Given the description of an element on the screen output the (x, y) to click on. 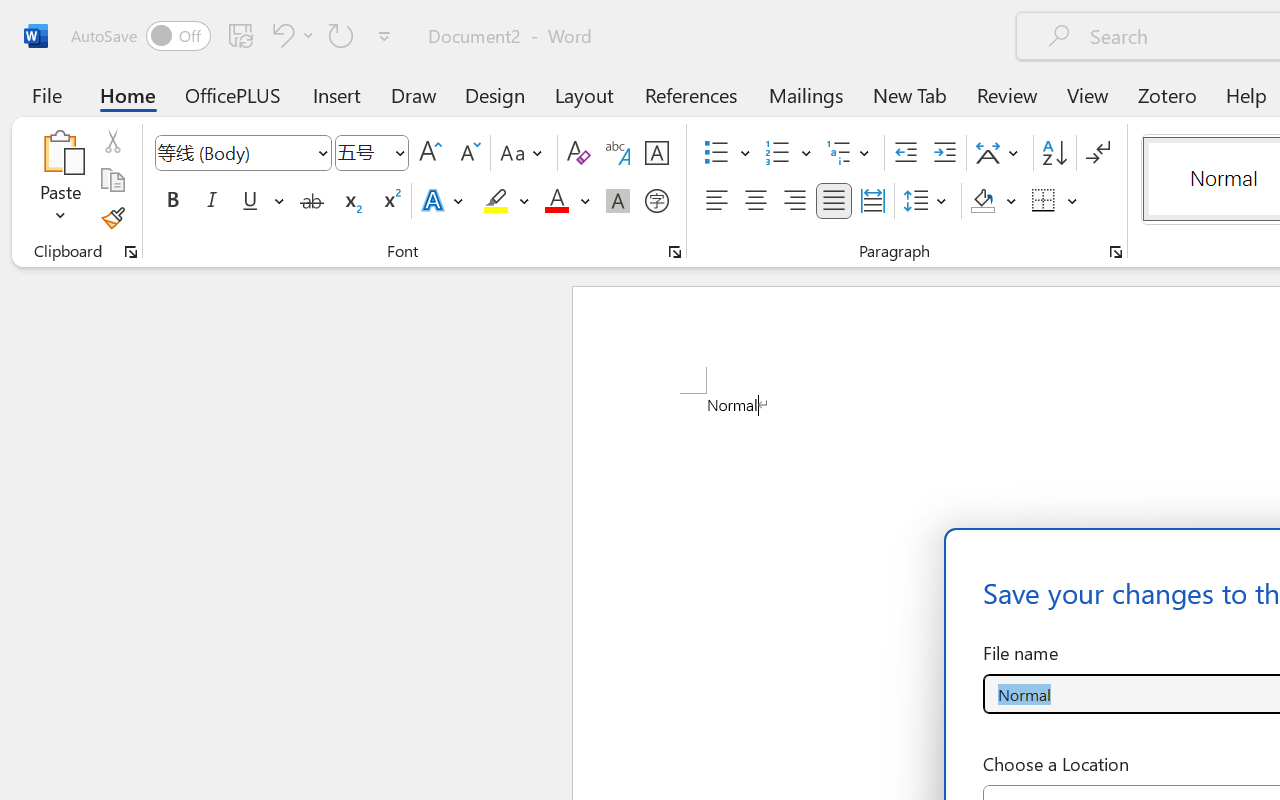
Undo Apply Quick Style (280, 35)
Sort... (1054, 153)
